Given the description of an element on the screen output the (x, y) to click on. 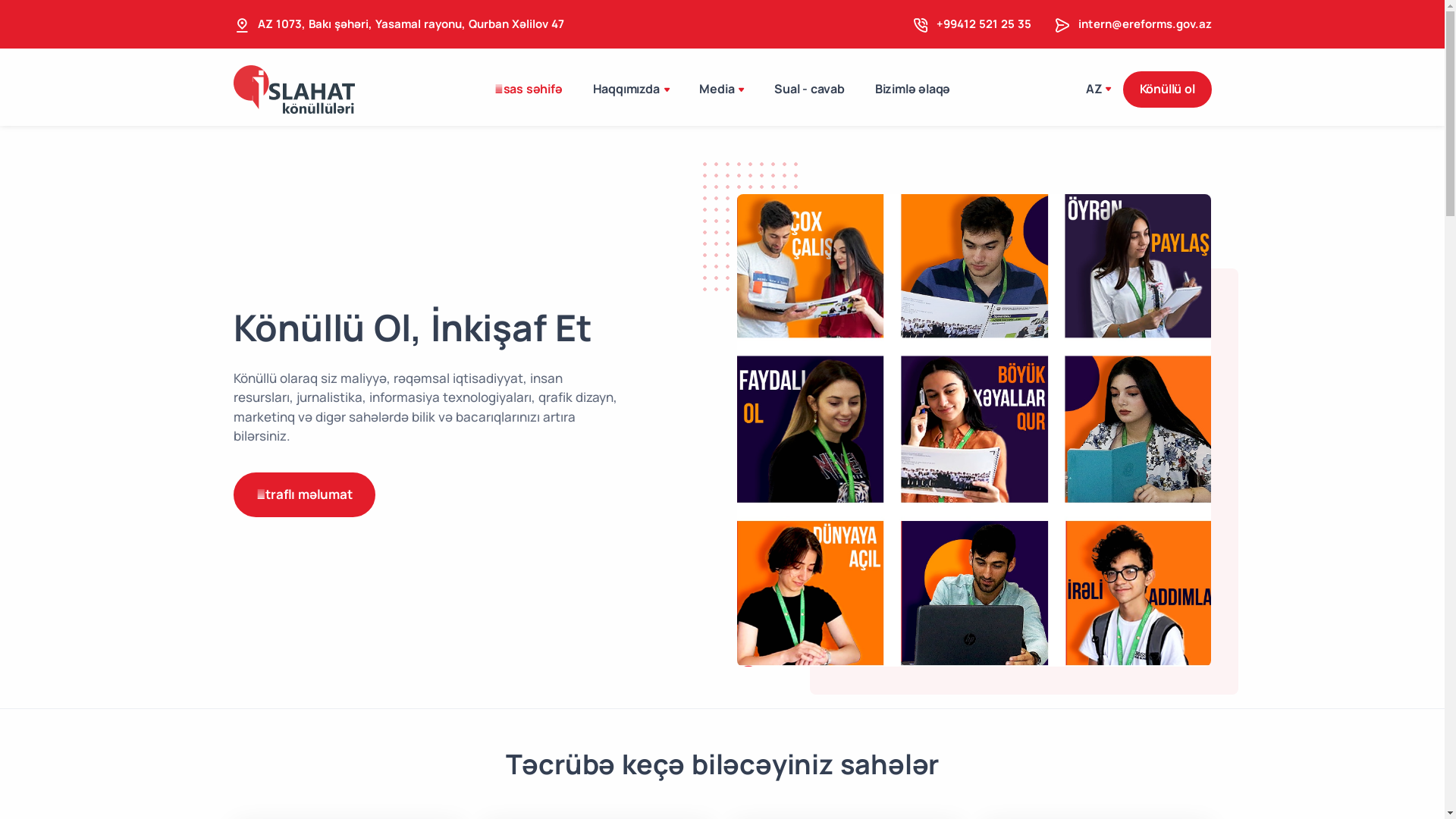
AZ Element type: text (1097, 88)
intern@ereforms.gov.az Element type: text (1144, 23)
Media Element type: text (721, 88)
Sual - cavab Element type: text (809, 88)
